Given the description of an element on the screen output the (x, y) to click on. 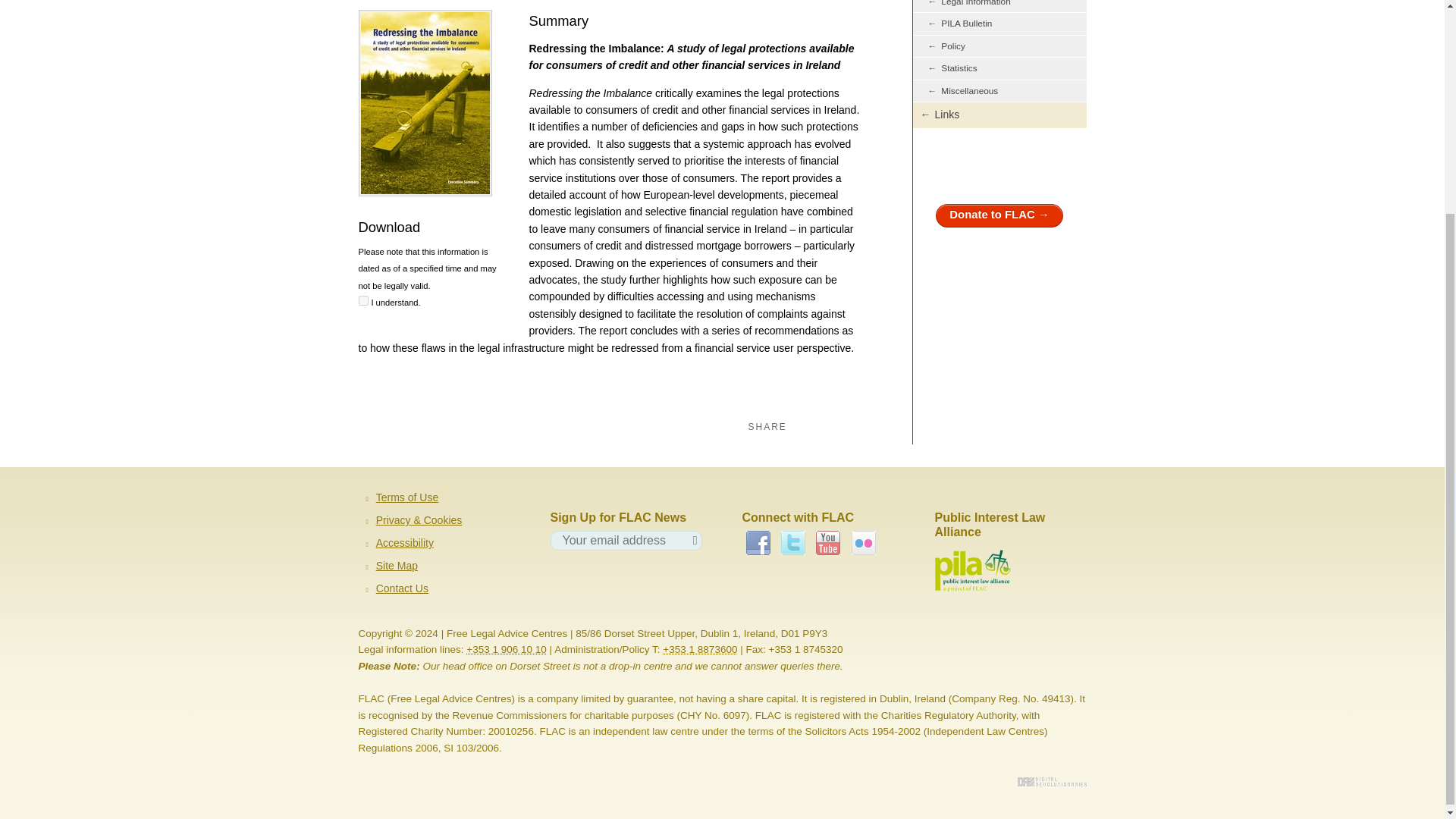
Site developed by the Digital Revolutionaries (1051, 781)
Resources - Links (999, 114)
Vlick to download file (425, 192)
T (363, 300)
